Given the description of an element on the screen output the (x, y) to click on. 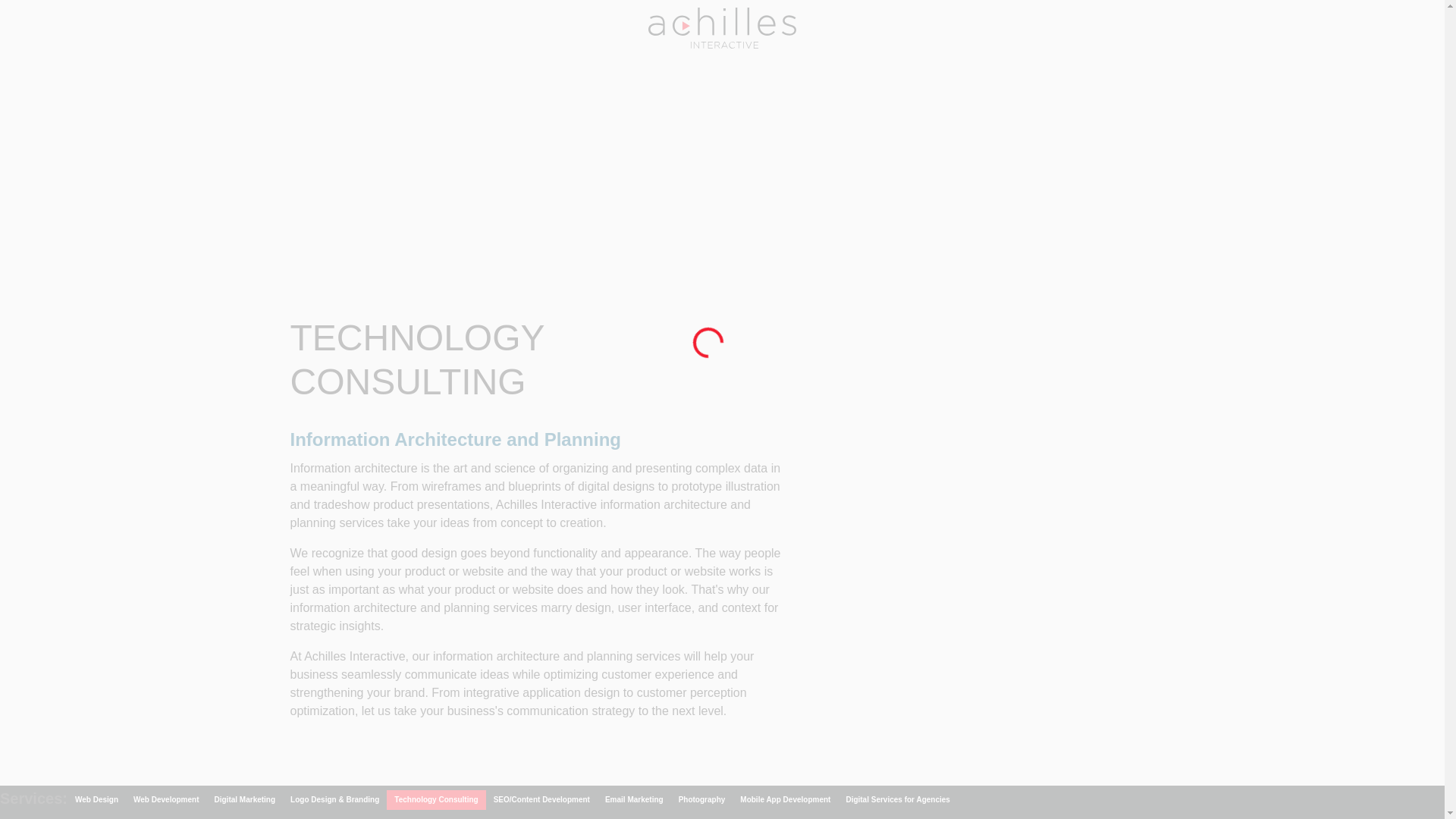
Digital Marketing (244, 799)
Web Design (95, 799)
Web Development (165, 799)
